Given the description of an element on the screen output the (x, y) to click on. 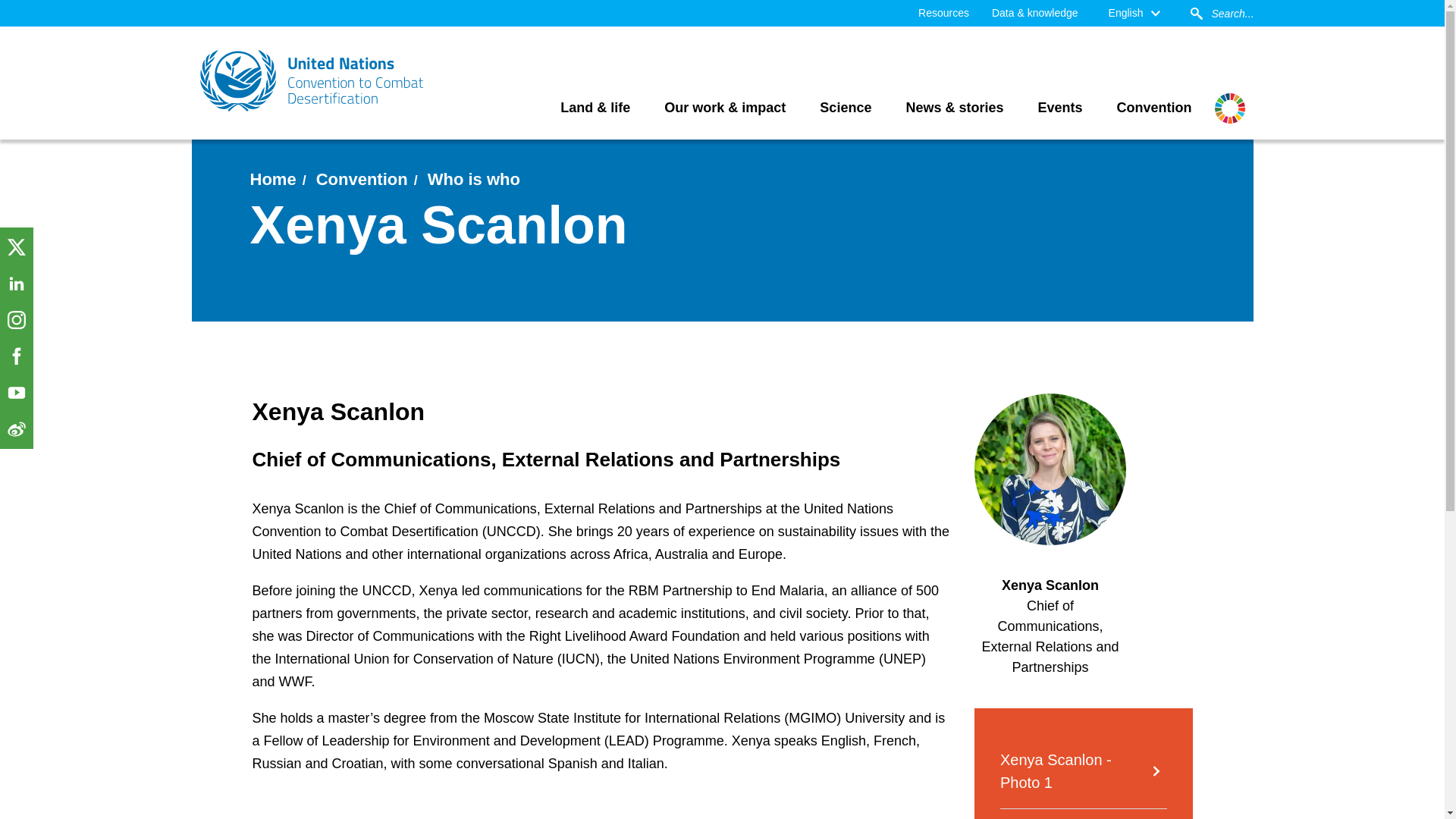
Xenya Scanlon - Photo 1 (1083, 770)
Resources (943, 12)
Science (845, 108)
Convention (361, 179)
English (1133, 12)
Who is who (473, 179)
Xenya Scanlon - Photo 2 (1083, 813)
UNCCD (312, 80)
Convention (1154, 108)
